Given the description of an element on the screen output the (x, y) to click on. 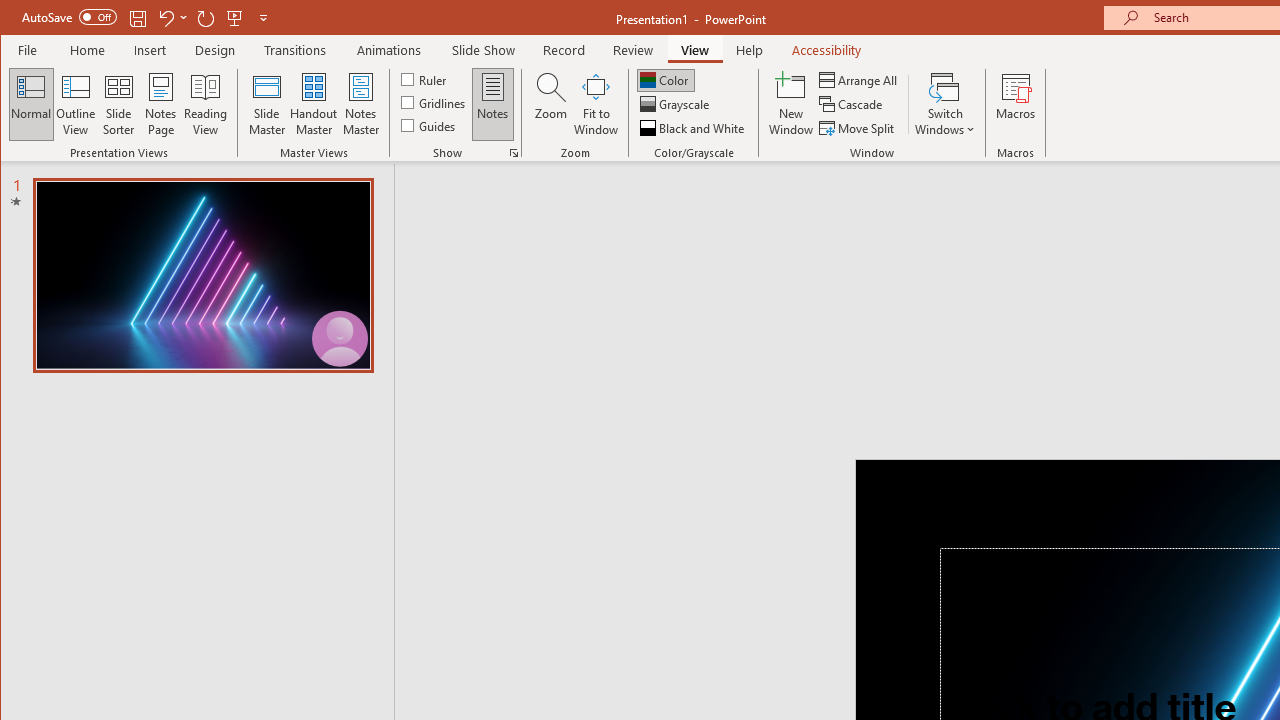
Slide Master (266, 104)
Notes Master (360, 104)
Guides (430, 124)
Fit to Window (596, 104)
Arrange All (859, 80)
